Given the description of an element on the screen output the (x, y) to click on. 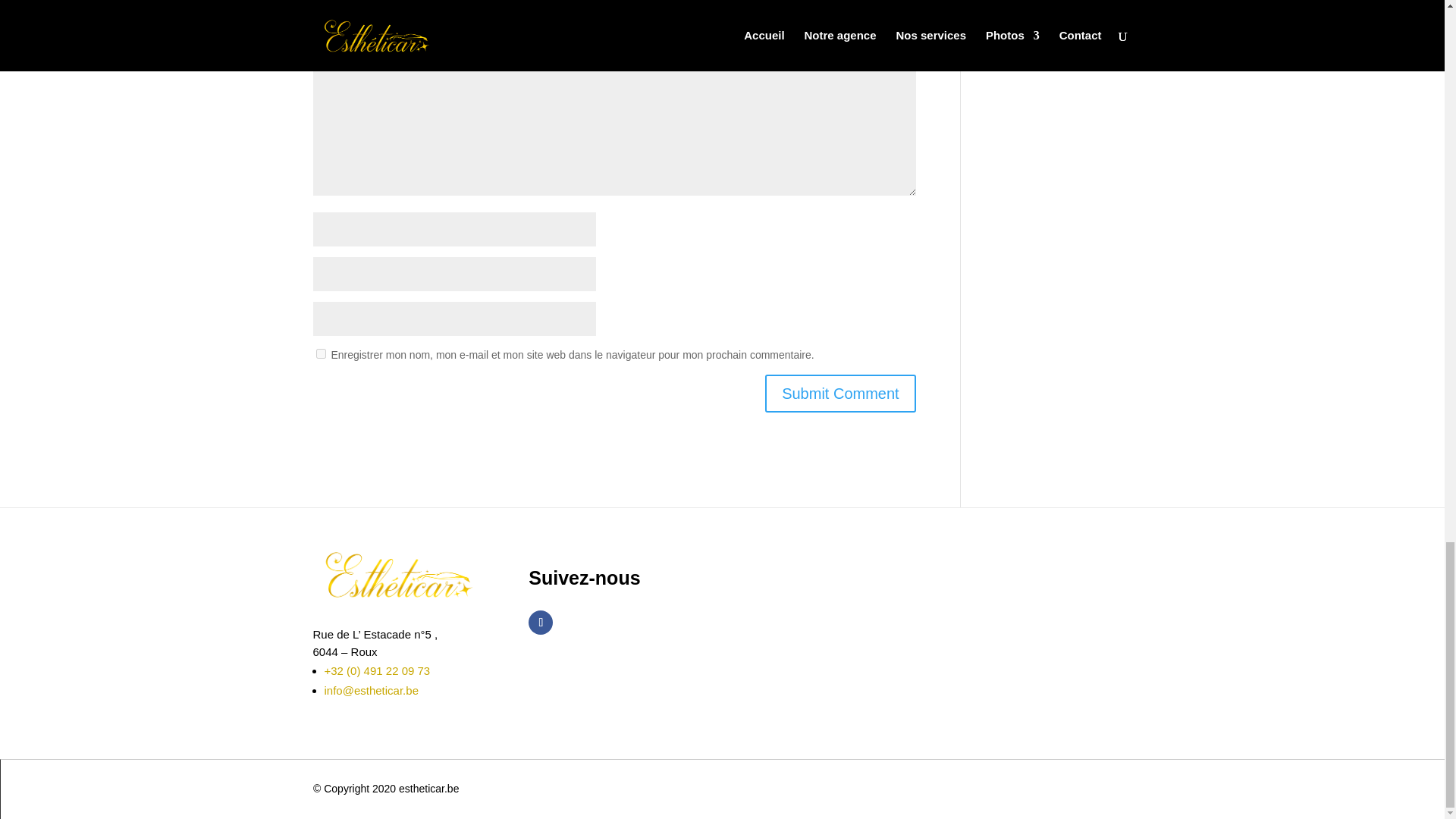
yes (319, 353)
estheti-will-p (398, 574)
Submit Comment (840, 393)
Submit Comment (840, 393)
Follow on Facebook (540, 622)
